Given the description of an element on the screen output the (x, y) to click on. 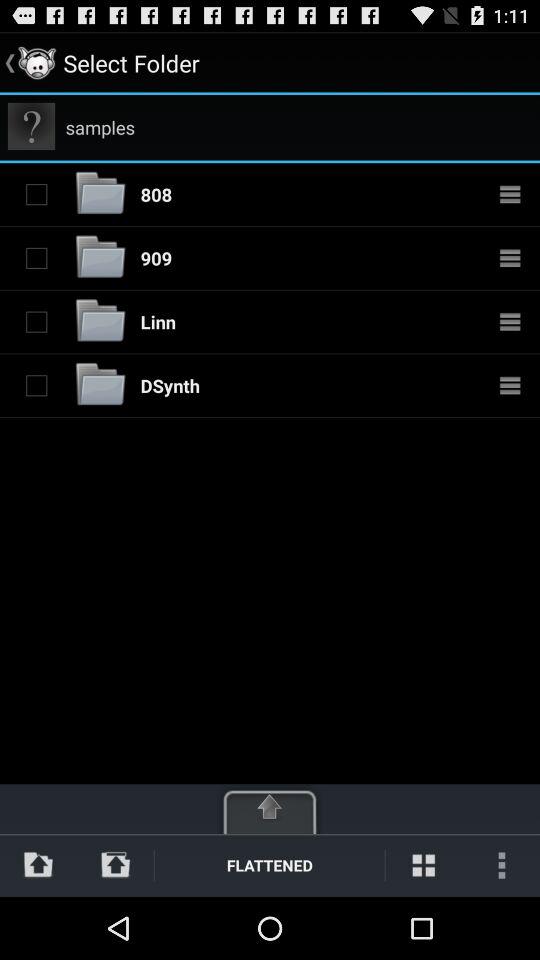
select folder (36, 194)
